Given the description of an element on the screen output the (x, y) to click on. 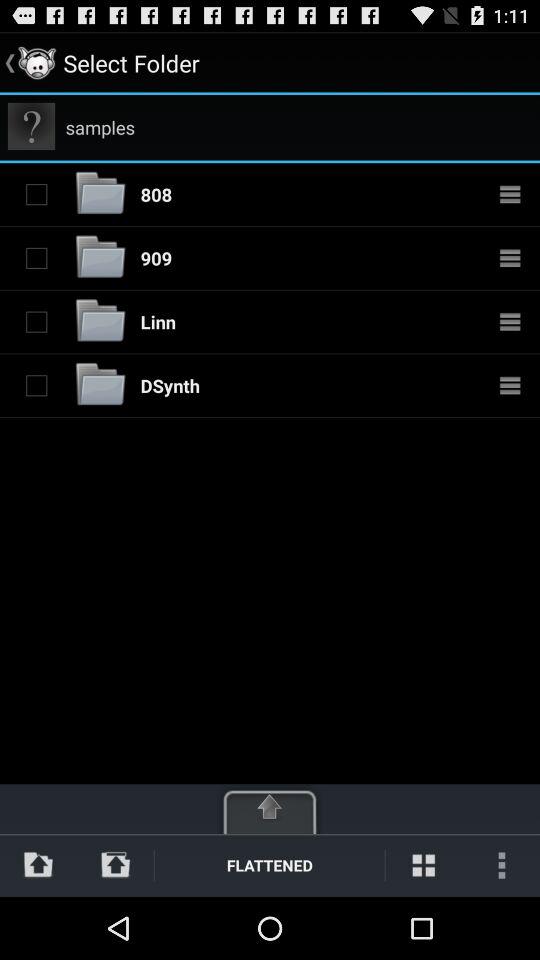
select folder (36, 194)
